Given the description of an element on the screen output the (x, y) to click on. 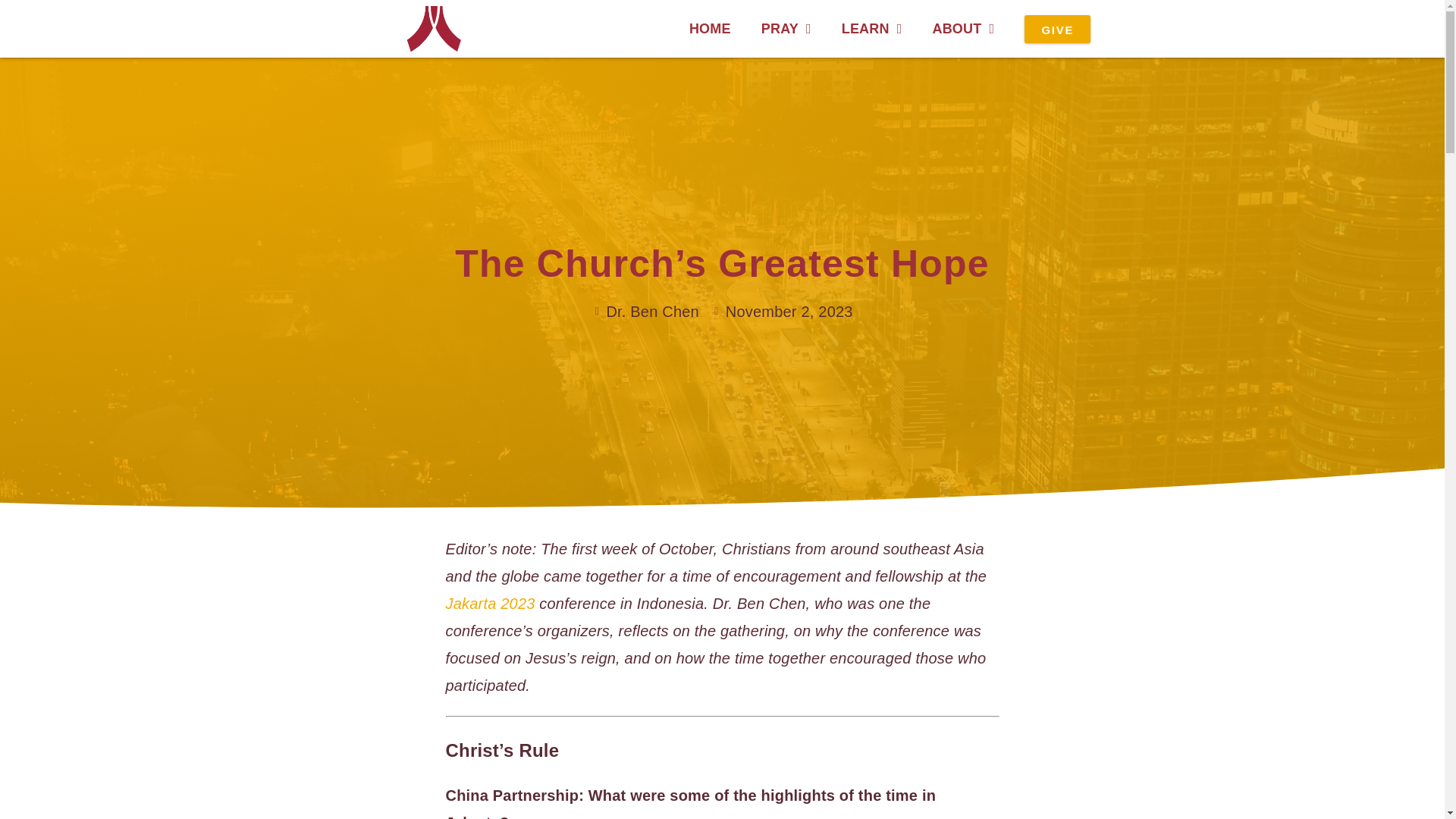
PRAY (786, 28)
HOME (709, 28)
ABOUT (963, 28)
LEARN (872, 28)
